Given the description of an element on the screen output the (x, y) to click on. 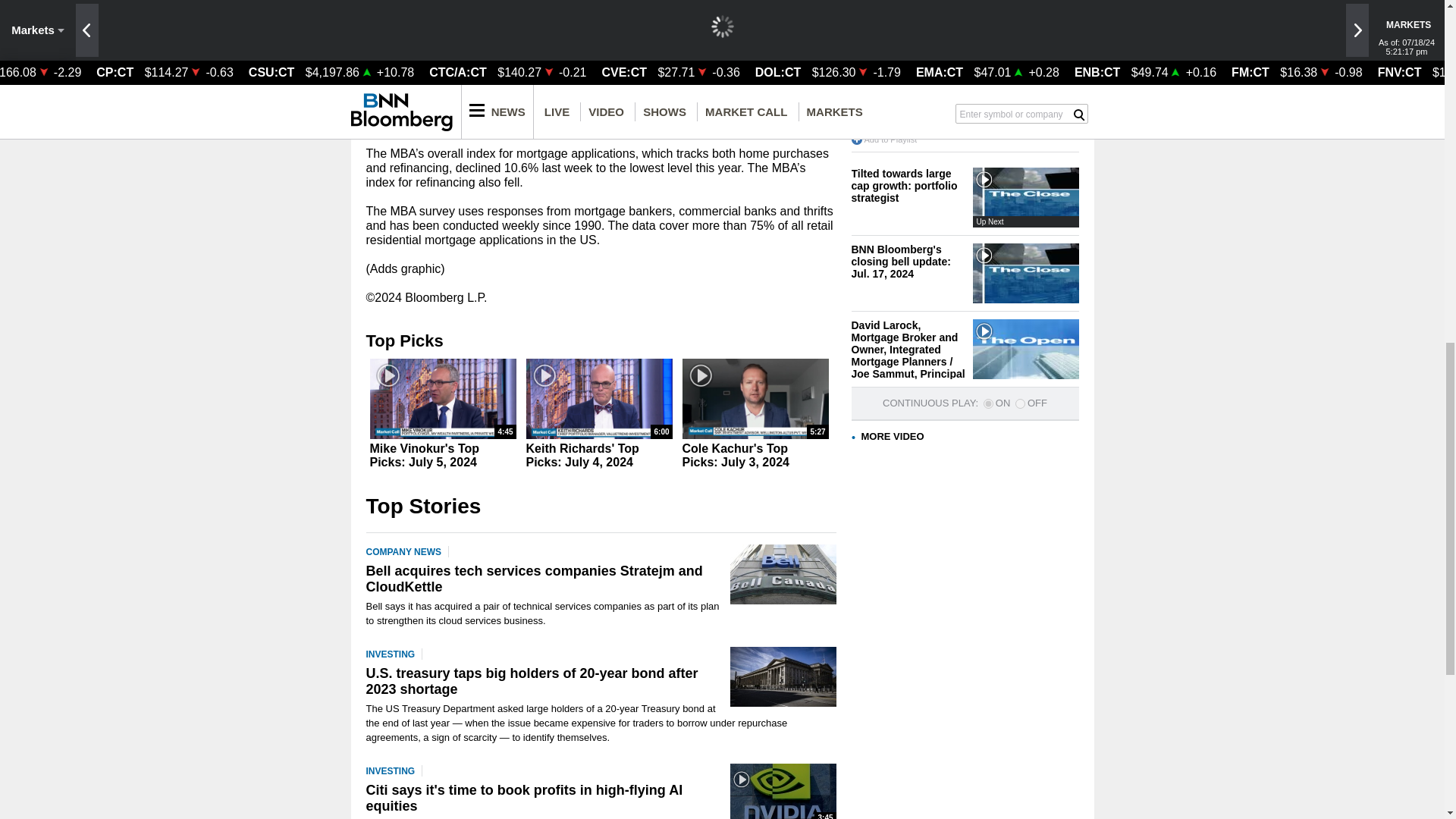
Nvidia sign (782, 791)
false (1019, 403)
Bell signage (782, 574)
true (988, 403)
